Given the description of an element on the screen output the (x, y) to click on. 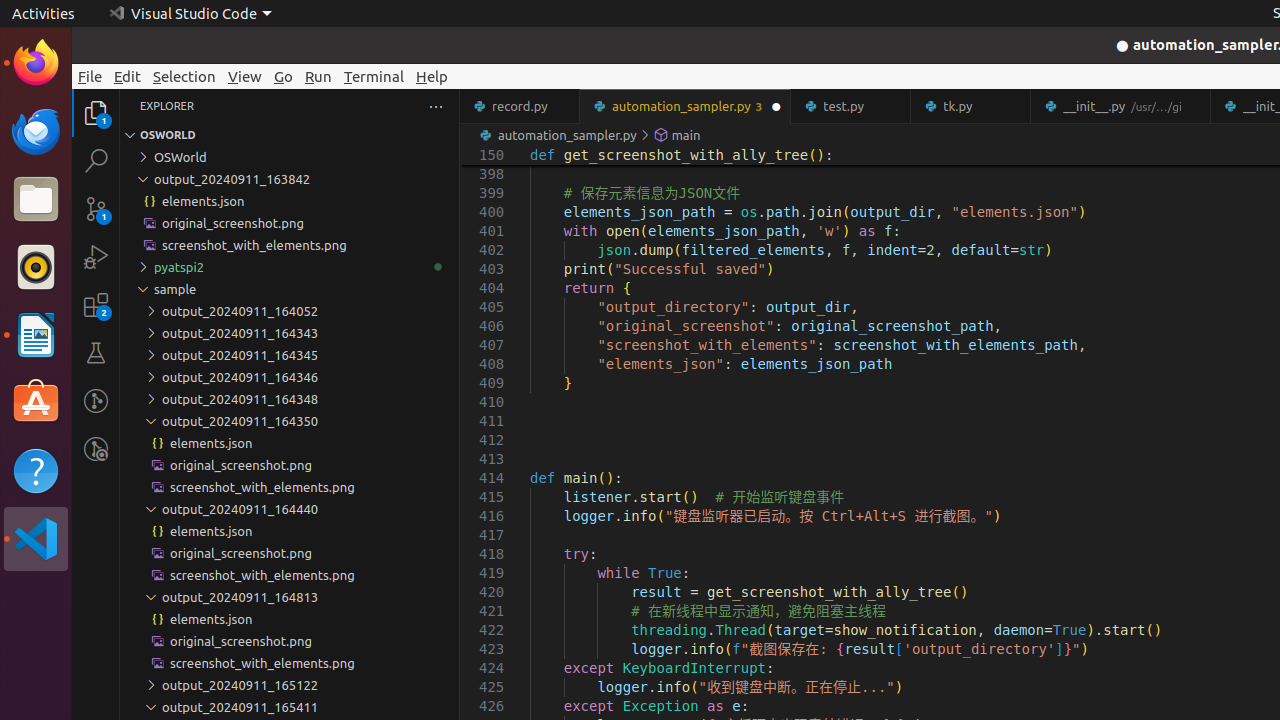
Extensions (Ctrl+Shift+X) - 2 require update Element type: page-tab (96, 305)
output_20240911_164350 Element type: tree-item (289, 421)
Selection Element type: push-button (184, 76)
automation_sampler.py Element type: page-tab (686, 106)
